Given the description of an element on the screen output the (x, y) to click on. 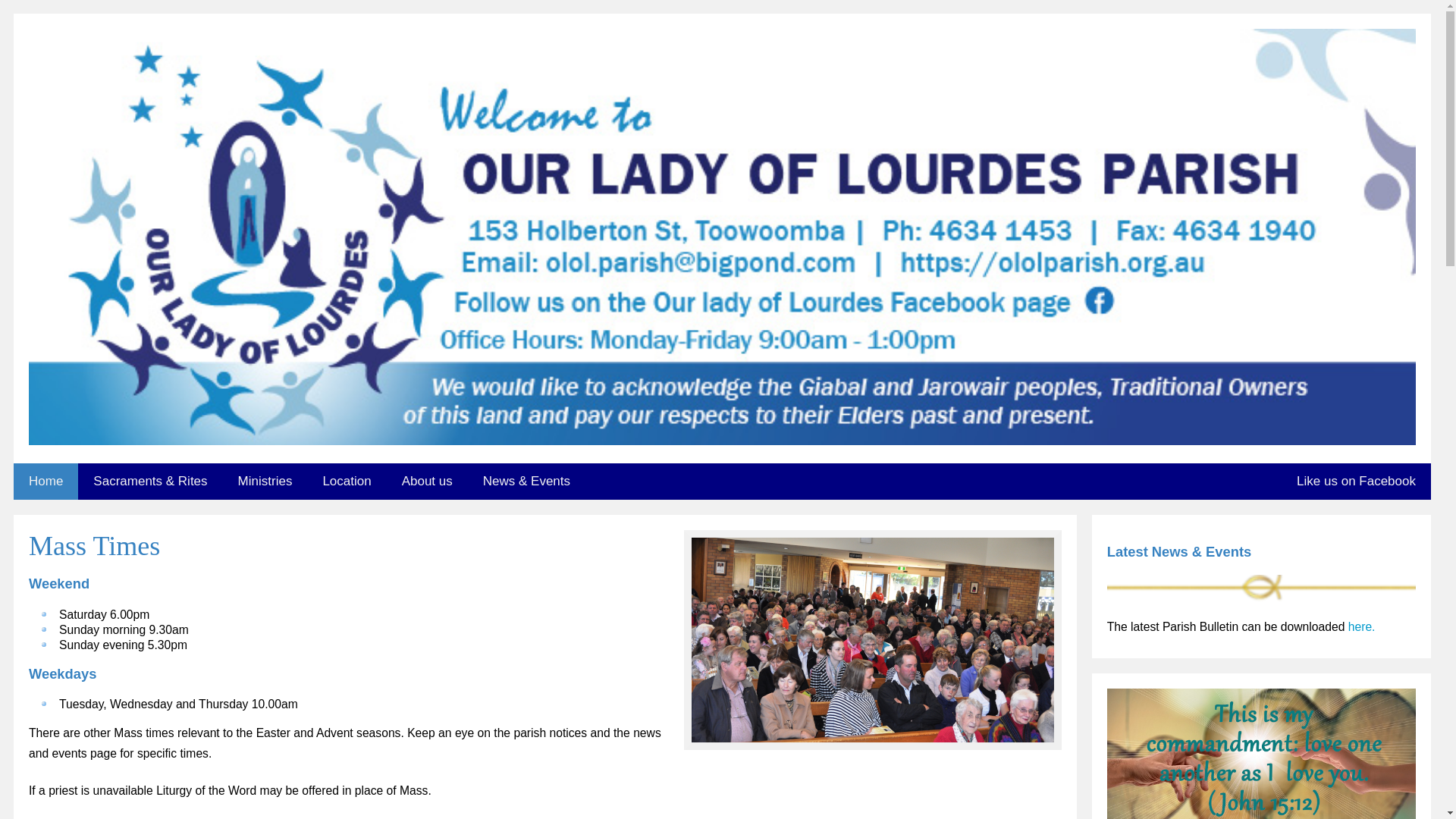
Sacraments & Rites Element type: text (150, 481)
Like us on Facebook Element type: text (1355, 481)
News & Events Element type: text (526, 481)
here. Element type: text (1361, 626)
About us Element type: text (426, 481)
Home Element type: text (45, 481)
Ministries Element type: text (264, 481)
Location Element type: text (346, 481)
